Given the description of an element on the screen output the (x, y) to click on. 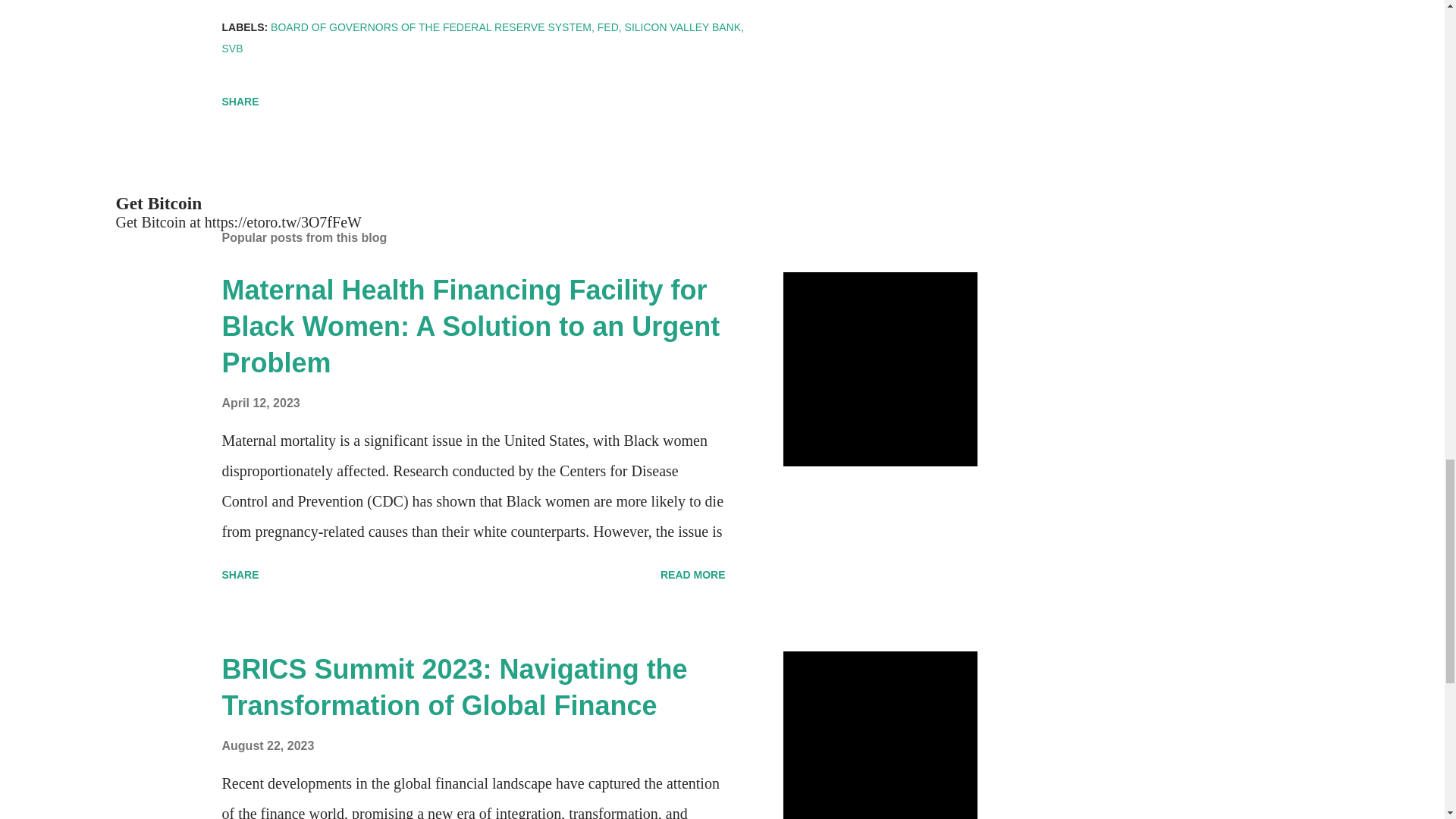
Email Post (230, 79)
BOARD OF GOVERNORS OF THE FEDERAL RESERVE SYSTEM (432, 26)
April 12, 2023 (260, 402)
SHARE (239, 101)
SHARE (239, 574)
August 22, 2023 (267, 745)
SILICON VALLEY BANK (684, 26)
SVB (232, 47)
permanent link (260, 402)
FED (608, 26)
READ MORE (692, 574)
